Given the description of an element on the screen output the (x, y) to click on. 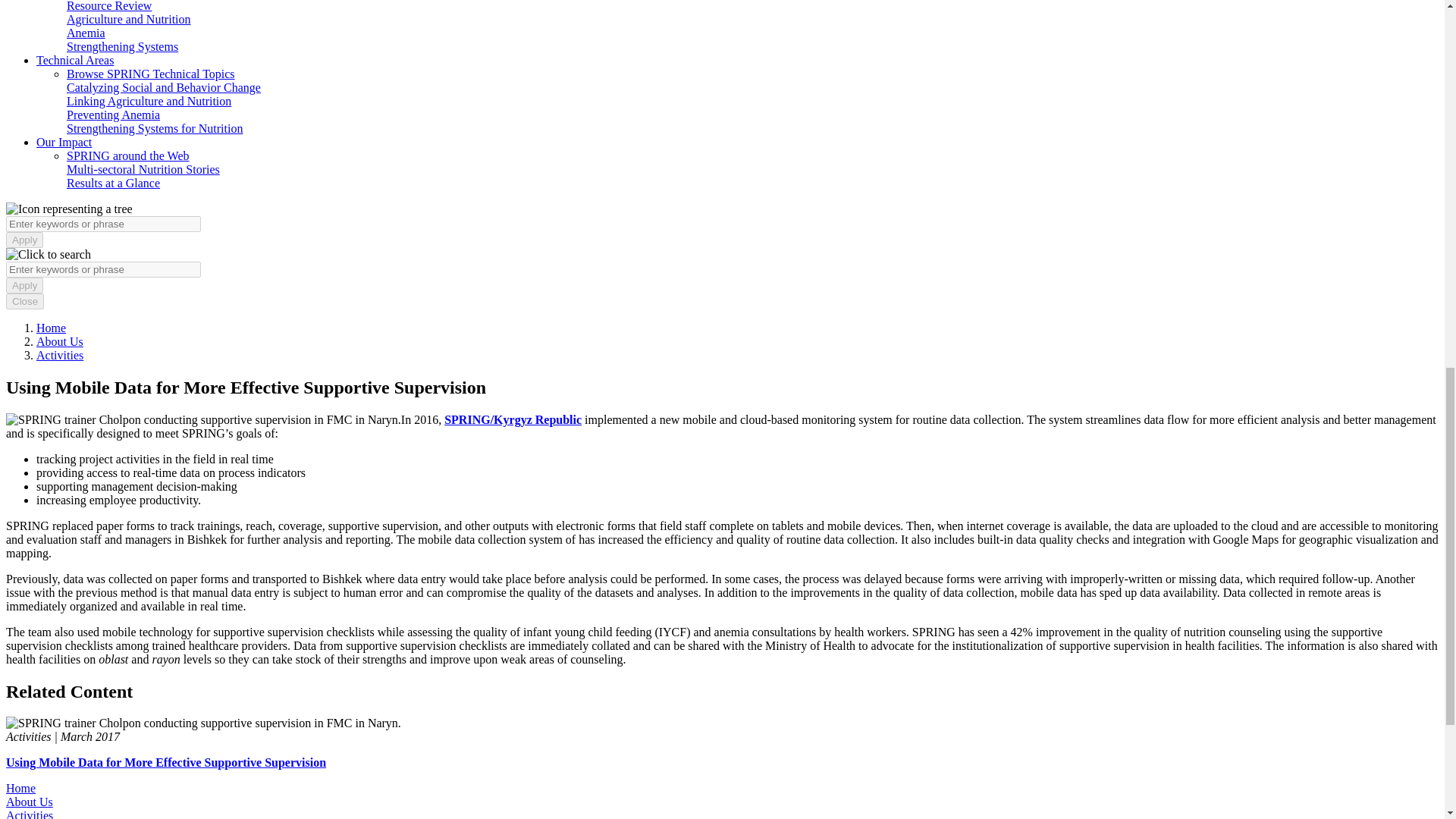
Preventing Anemia (113, 114)
Strengthening Systems for Nutrition (154, 128)
Catalyzing Social and Behavior Change (163, 87)
Linking Agriculture and Nutrition (148, 101)
